Given the description of an element on the screen output the (x, y) to click on. 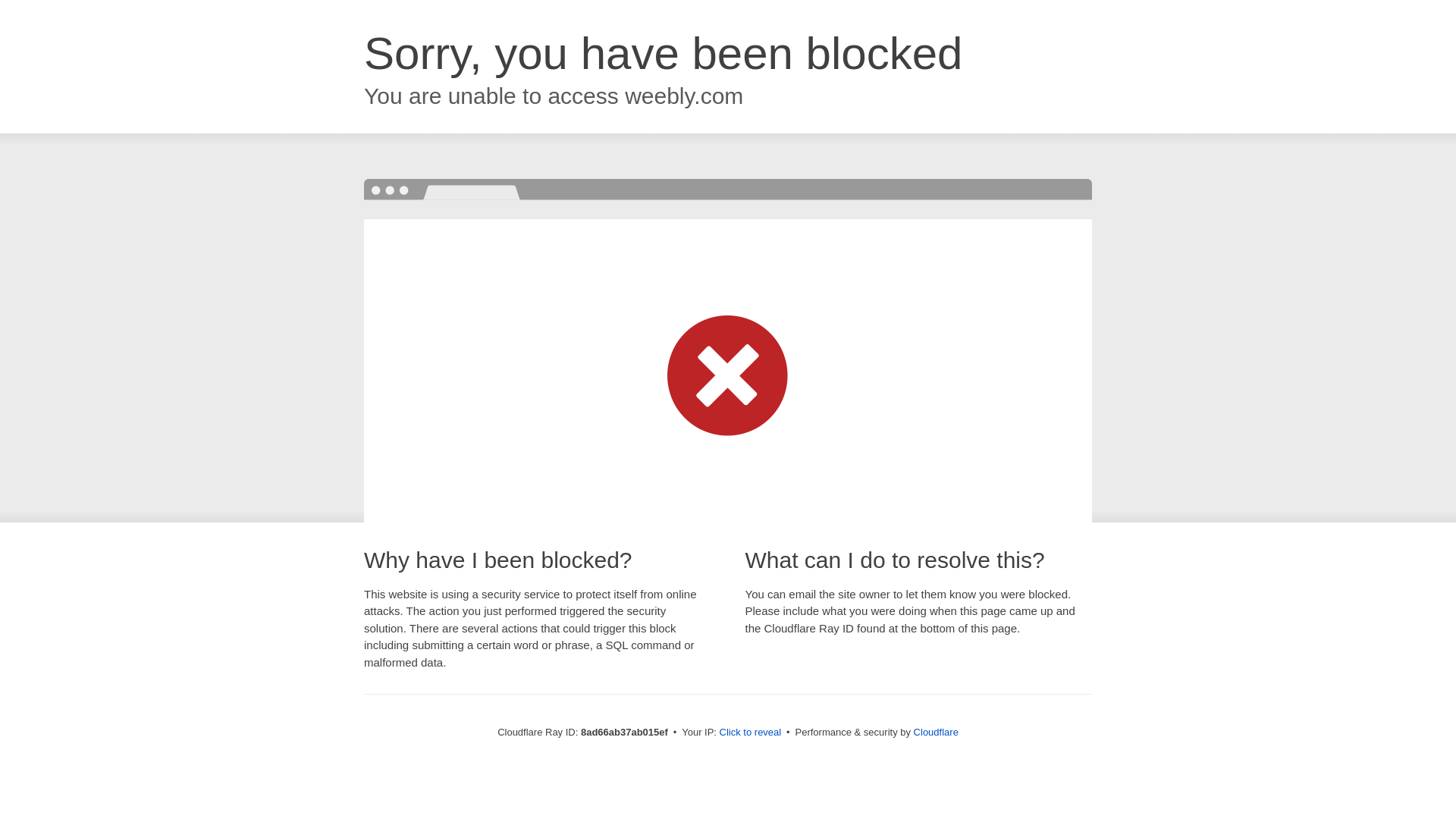
Cloudflare (936, 731)
Click to reveal (750, 732)
